Given the description of an element on the screen output the (x, y) to click on. 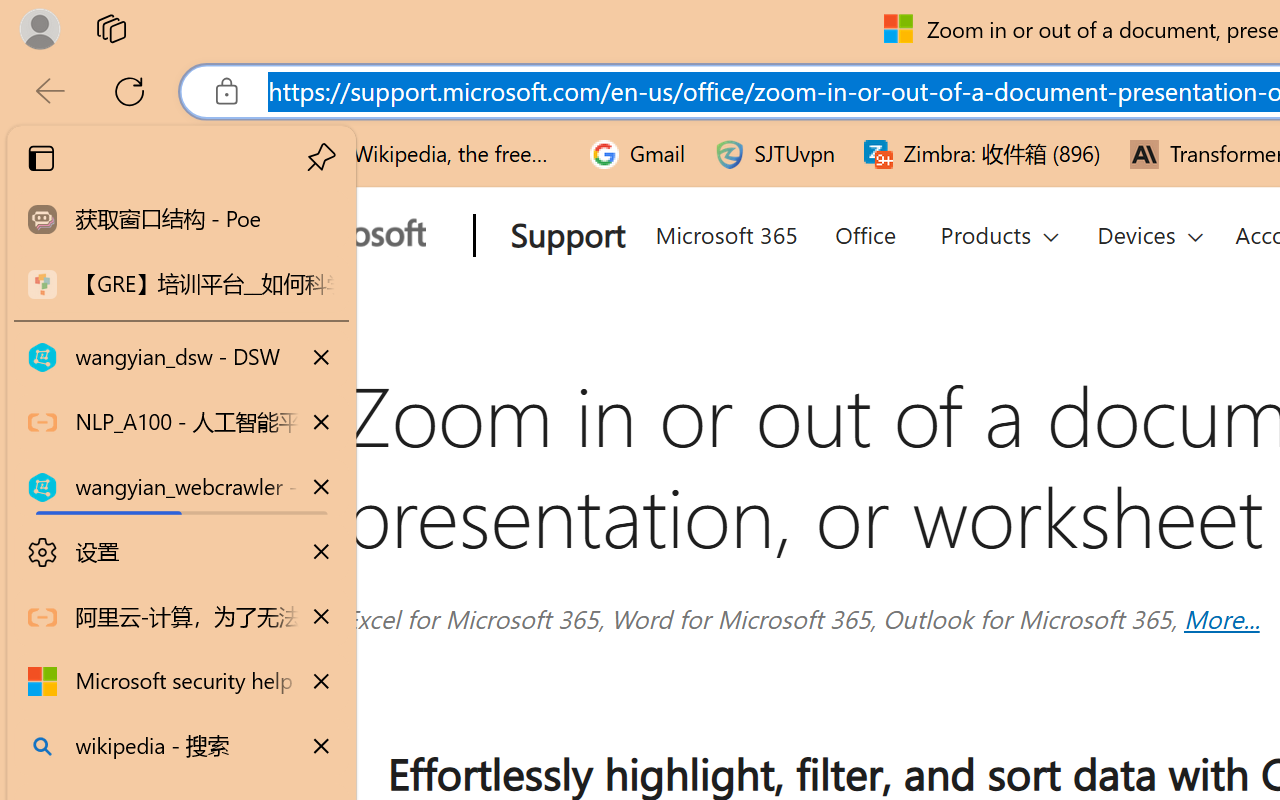
Microsoft 365 (725, 231)
Gmail (637, 154)
wangyian_webcrawler - DSW (181, 487)
Office (864, 231)
Office (864, 232)
